Given the description of an element on the screen output the (x, y) to click on. 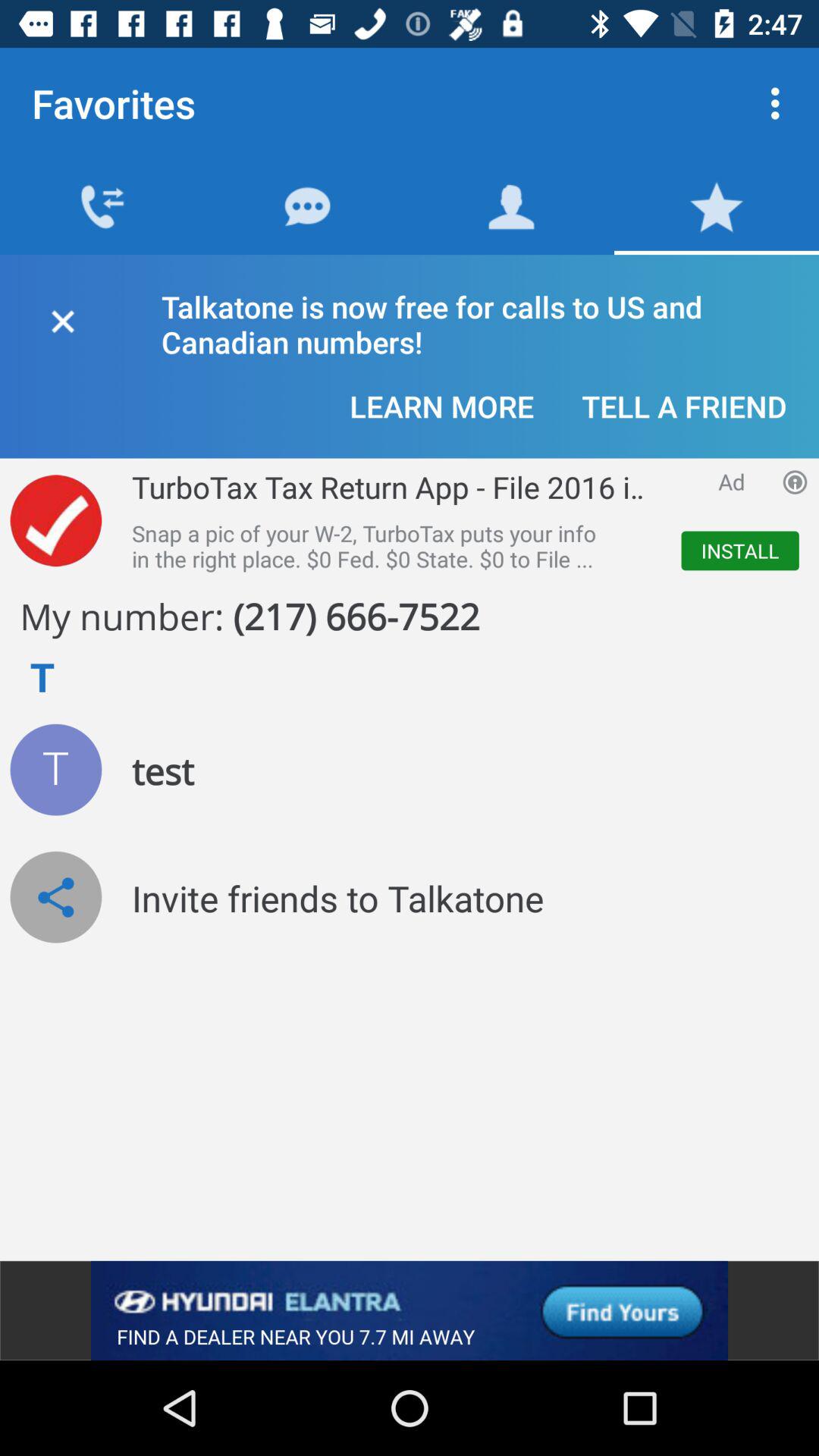
go to advertisement (55, 520)
